Given the description of an element on the screen output the (x, y) to click on. 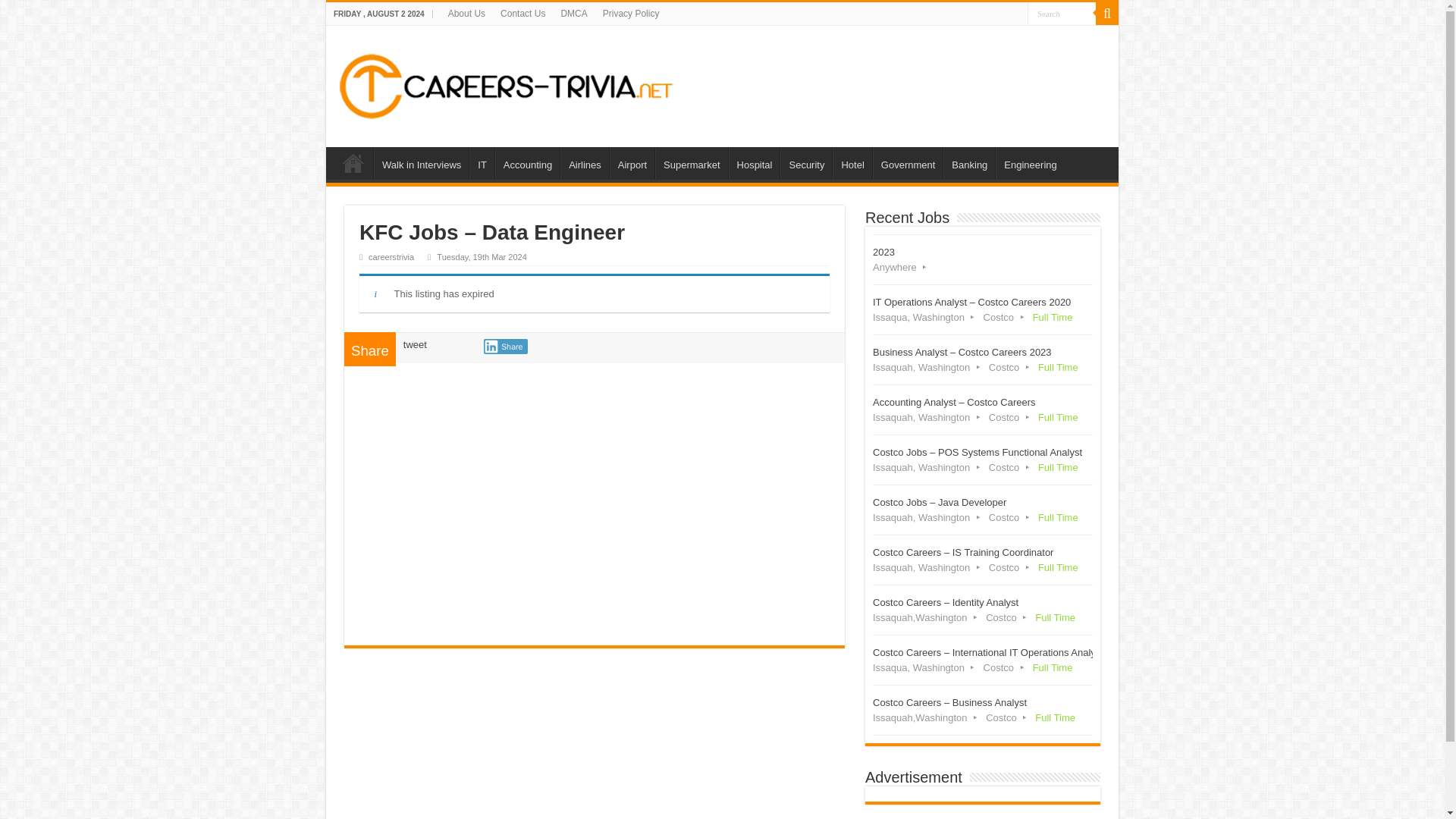
Privacy Policy (630, 13)
Airlines (584, 163)
Contact Us (523, 13)
tweet (414, 344)
Banking (968, 163)
Hotel (851, 163)
Supermarket (690, 163)
Airport (631, 163)
Engineering (1029, 163)
Search (1061, 13)
